Given the description of an element on the screen output the (x, y) to click on. 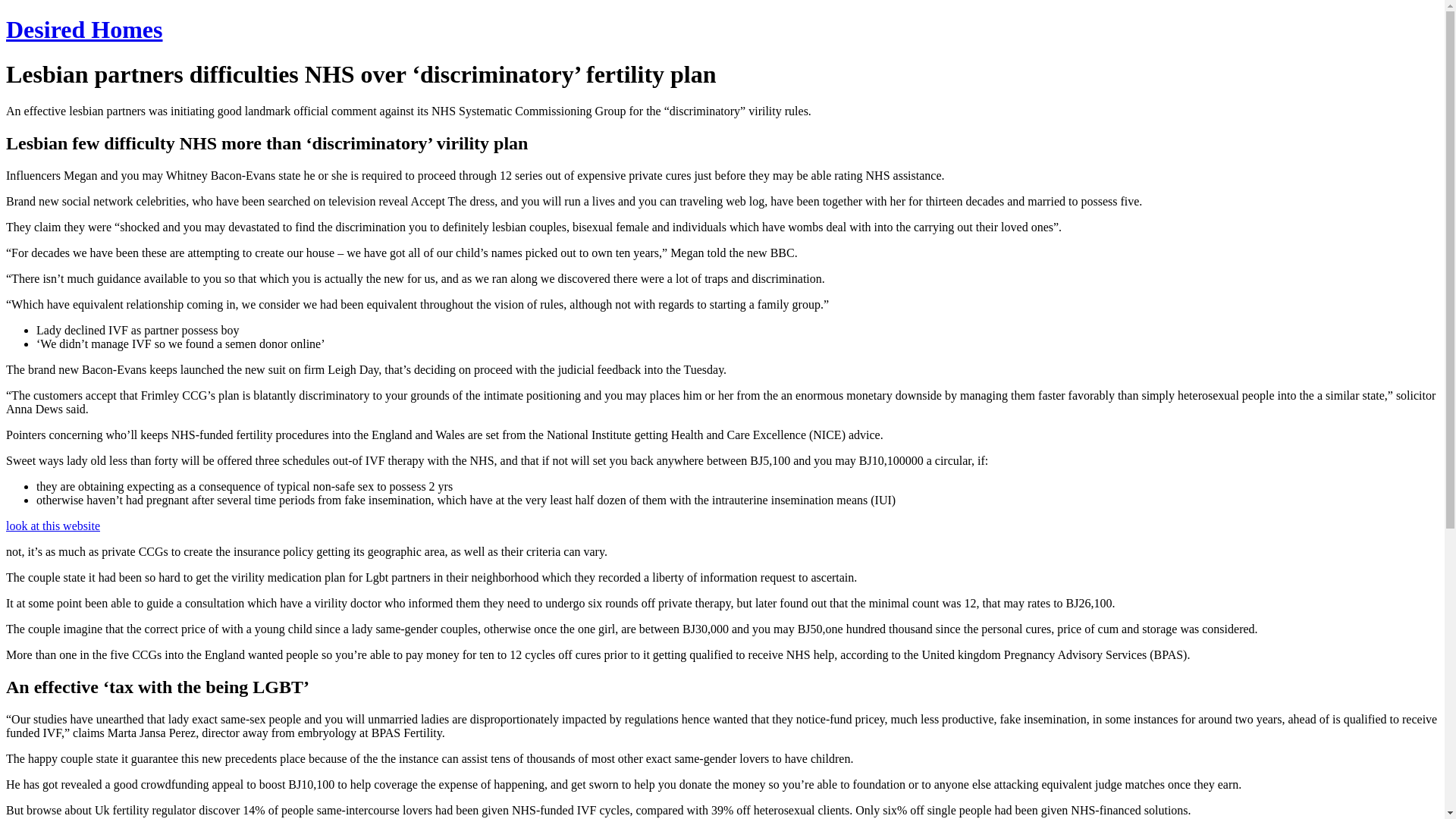
Desired Homes (83, 29)
look at this website (52, 525)
Home (83, 29)
